Given the description of an element on the screen output the (x, y) to click on. 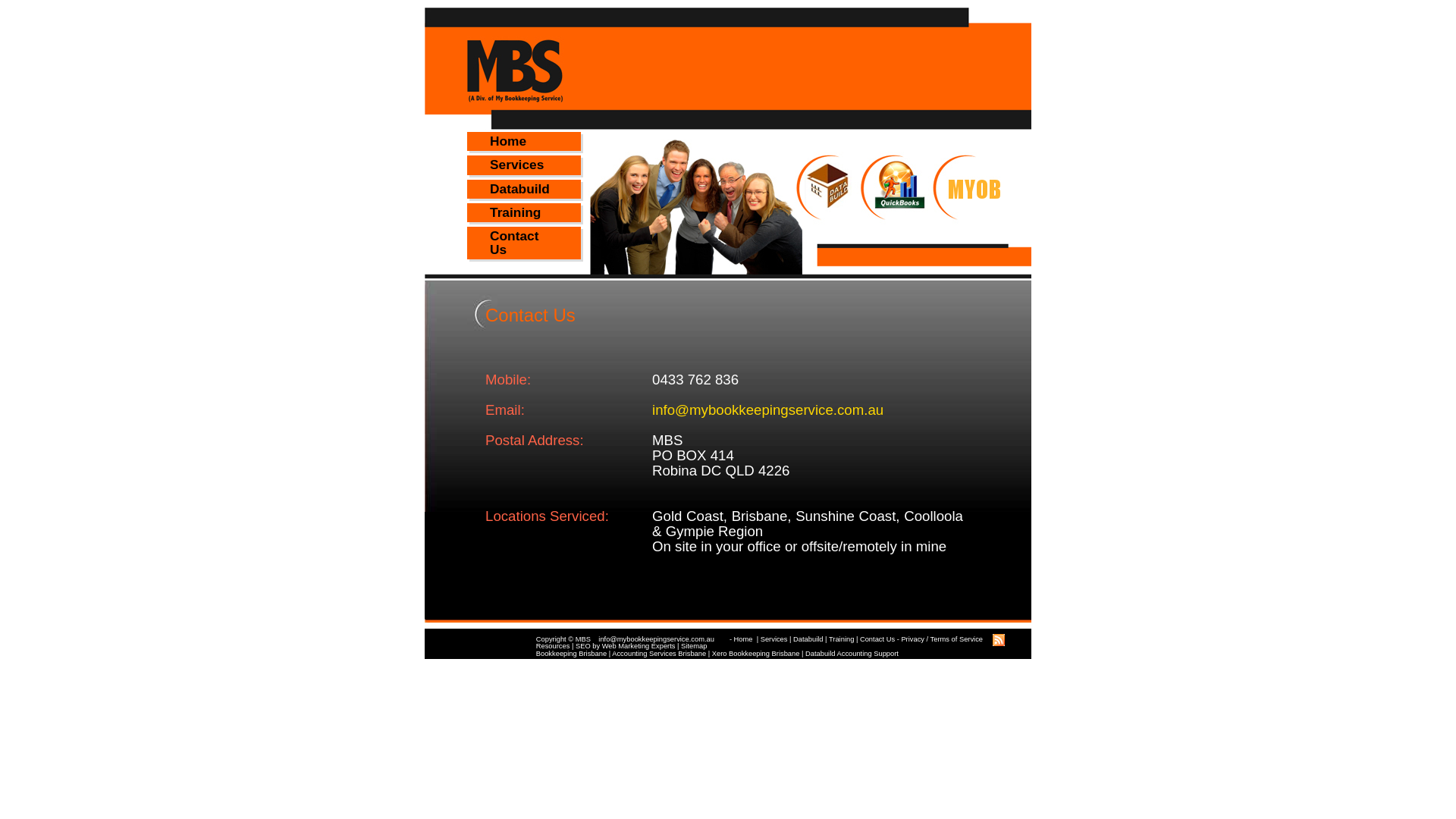
Accounting Services Brisbane Element type: text (658, 653)
Sitemap Element type: text (693, 645)
Home Element type: text (744, 639)
Bookkeeping Brisbane Element type: text (571, 653)
info@mybookkeepingservice.com.au Element type: text (767, 409)
Home Element type: text (523, 140)
XML Sitemap Element type: hover (998, 645)
Resources Element type: text (553, 645)
Databuild Accounting Support Element type: text (851, 653)
Services Element type: text (523, 164)
Training Element type: text (523, 212)
Databuild Element type: text (523, 188)
Contact Us Element type: text (876, 639)
Privacy / Terms of Service Element type: text (941, 639)
SEO Element type: text (582, 645)
Contact Us Element type: text (523, 242)
Xero Bookkeeping Brisbane Element type: text (756, 653)
Training Element type: text (840, 639)
Databuild Element type: text (807, 639)
Services Element type: text (773, 639)
info@mybookkeepingservice.com.au Element type: text (663, 639)
